Given the description of an element on the screen output the (x, y) to click on. 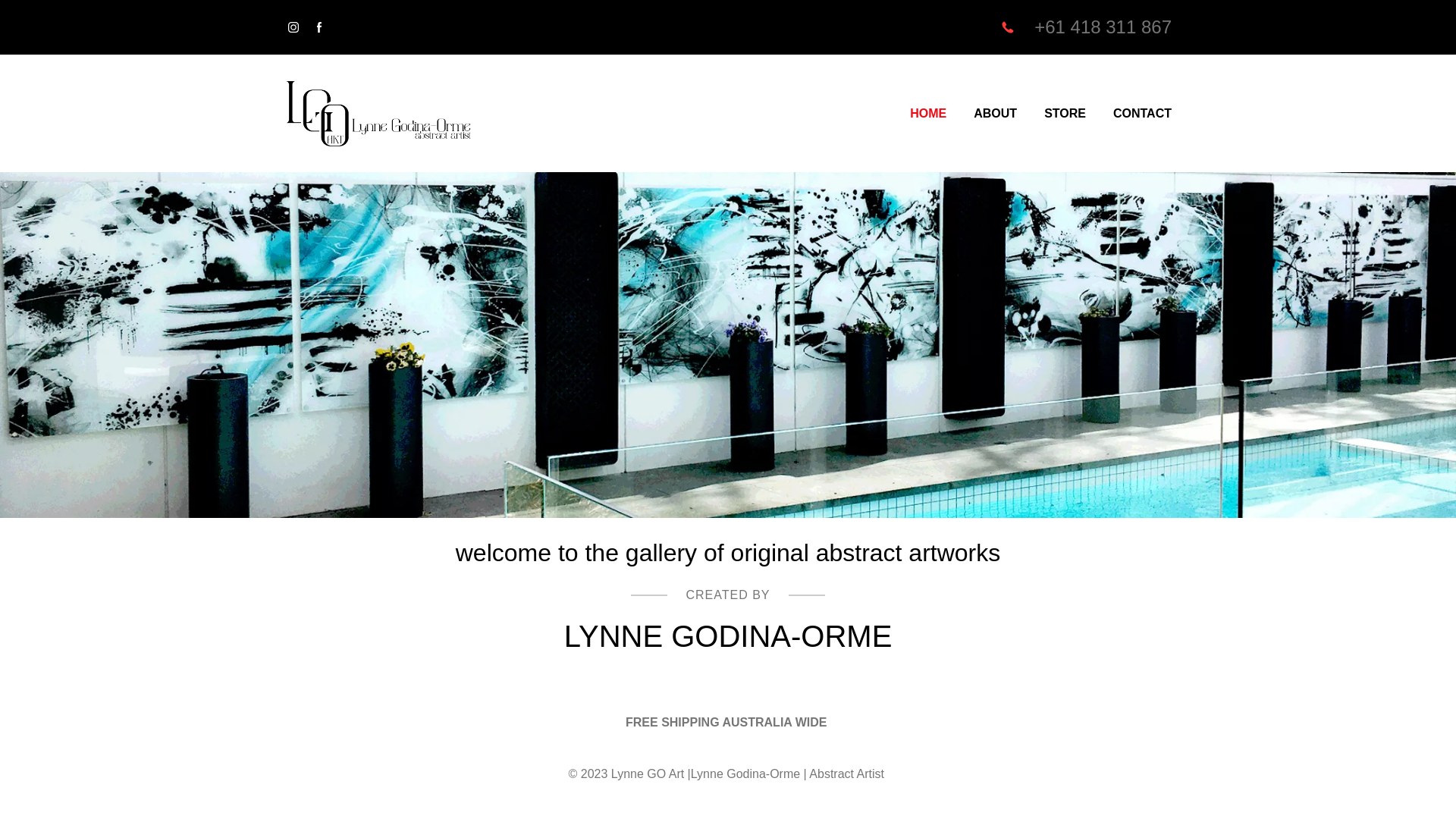
CONTACT Element type: text (1142, 113)
ABOUT Element type: text (994, 113)
STORE Element type: text (1064, 113)
HOME Element type: text (928, 113)
